Given the description of an element on the screen output the (x, y) to click on. 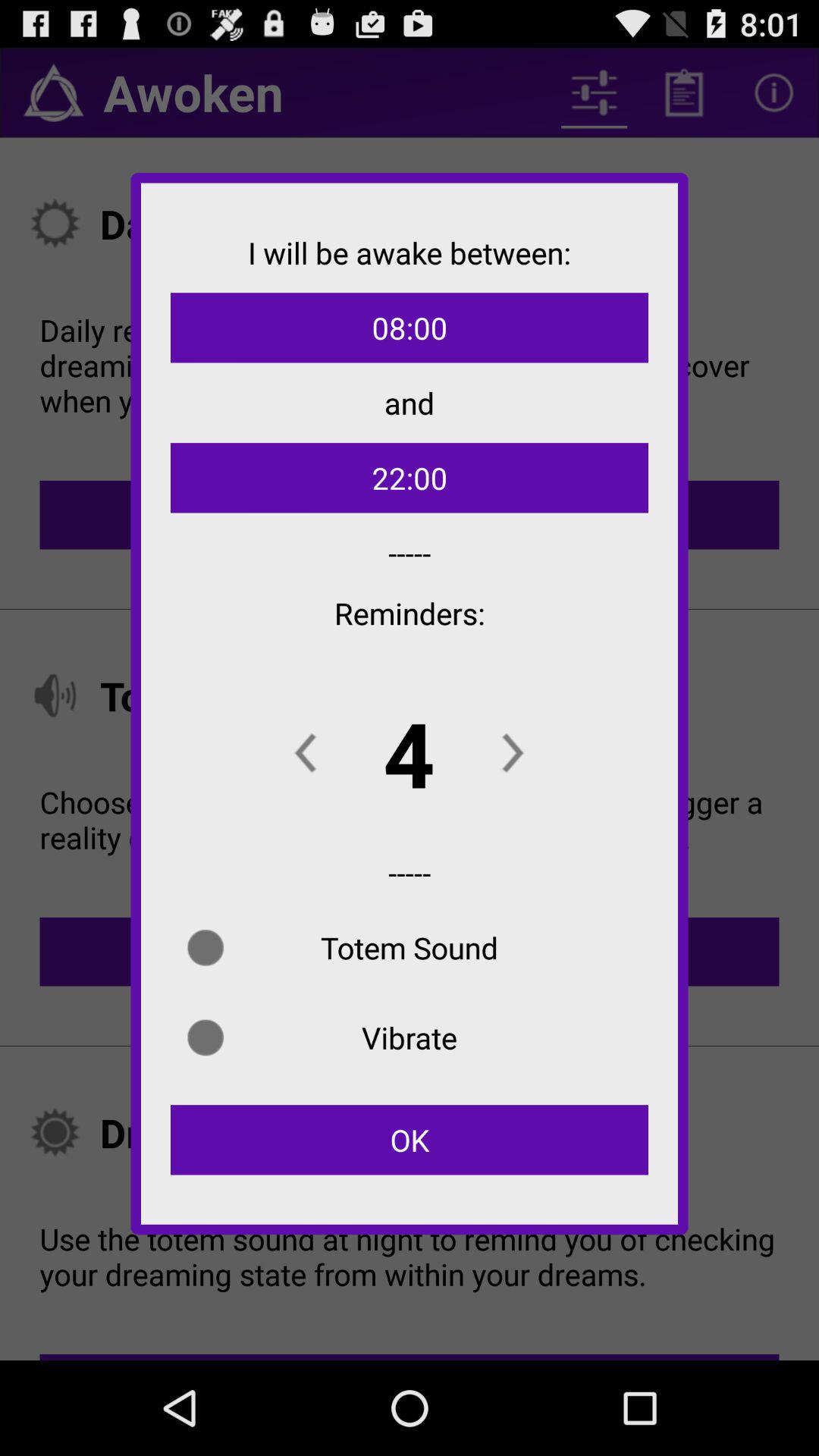
flip to the ok item (409, 1140)
